Given the description of an element on the screen output the (x, y) to click on. 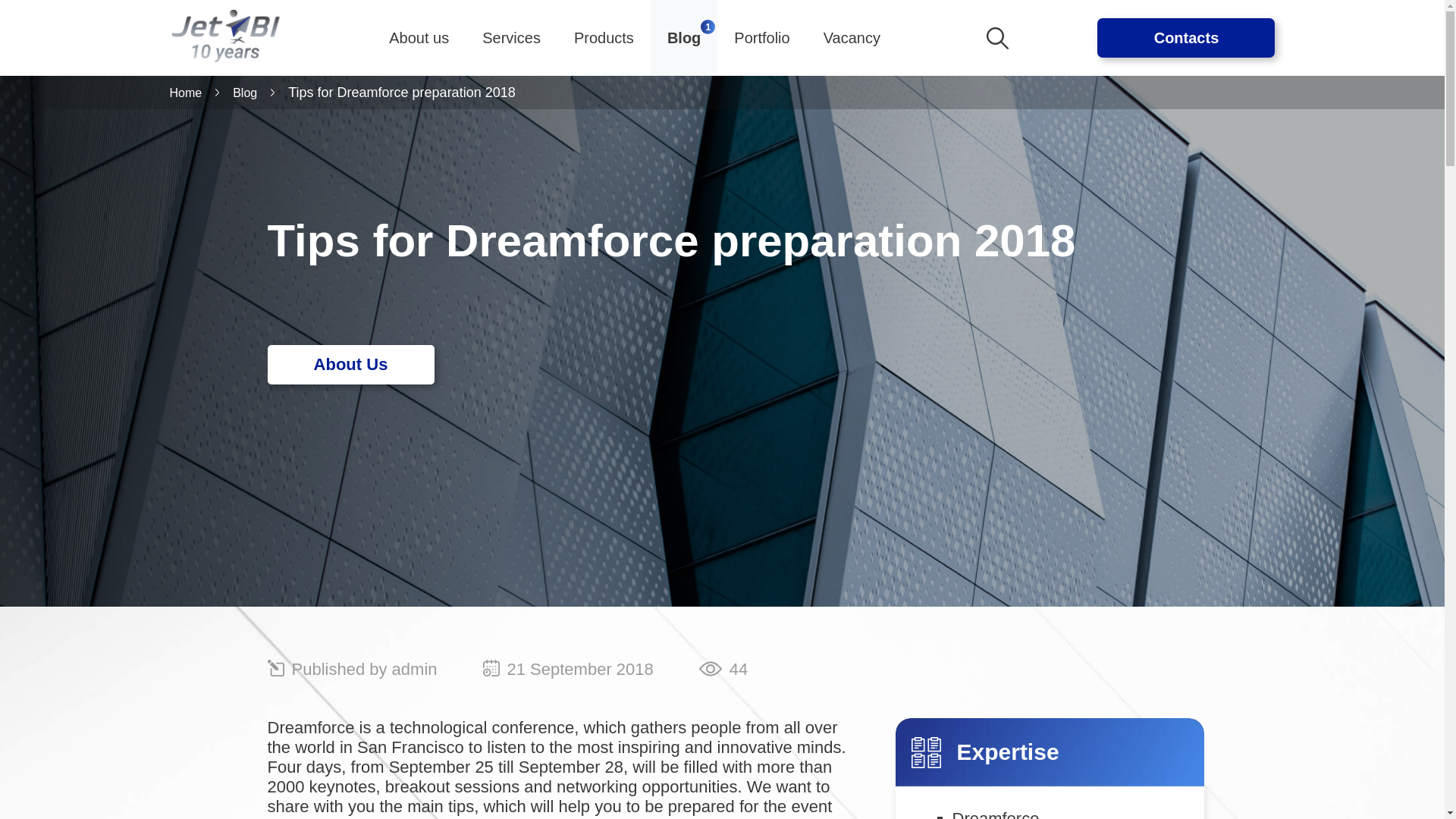
About us (418, 37)
Services (510, 37)
